Given the description of an element on the screen output the (x, y) to click on. 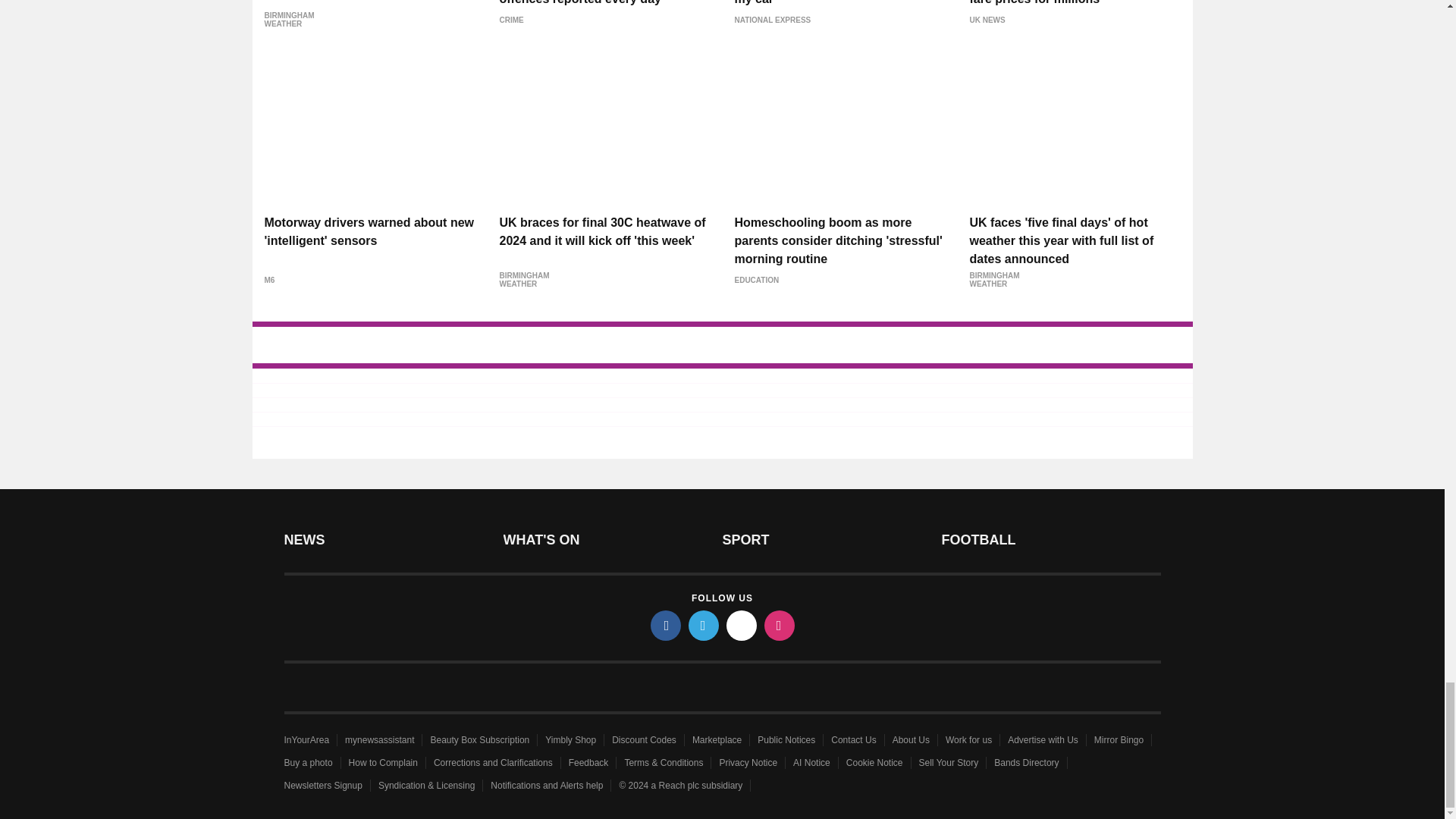
twitter (703, 625)
tiktok (741, 625)
facebook (665, 625)
instagram (779, 625)
